Given the description of an element on the screen output the (x, y) to click on. 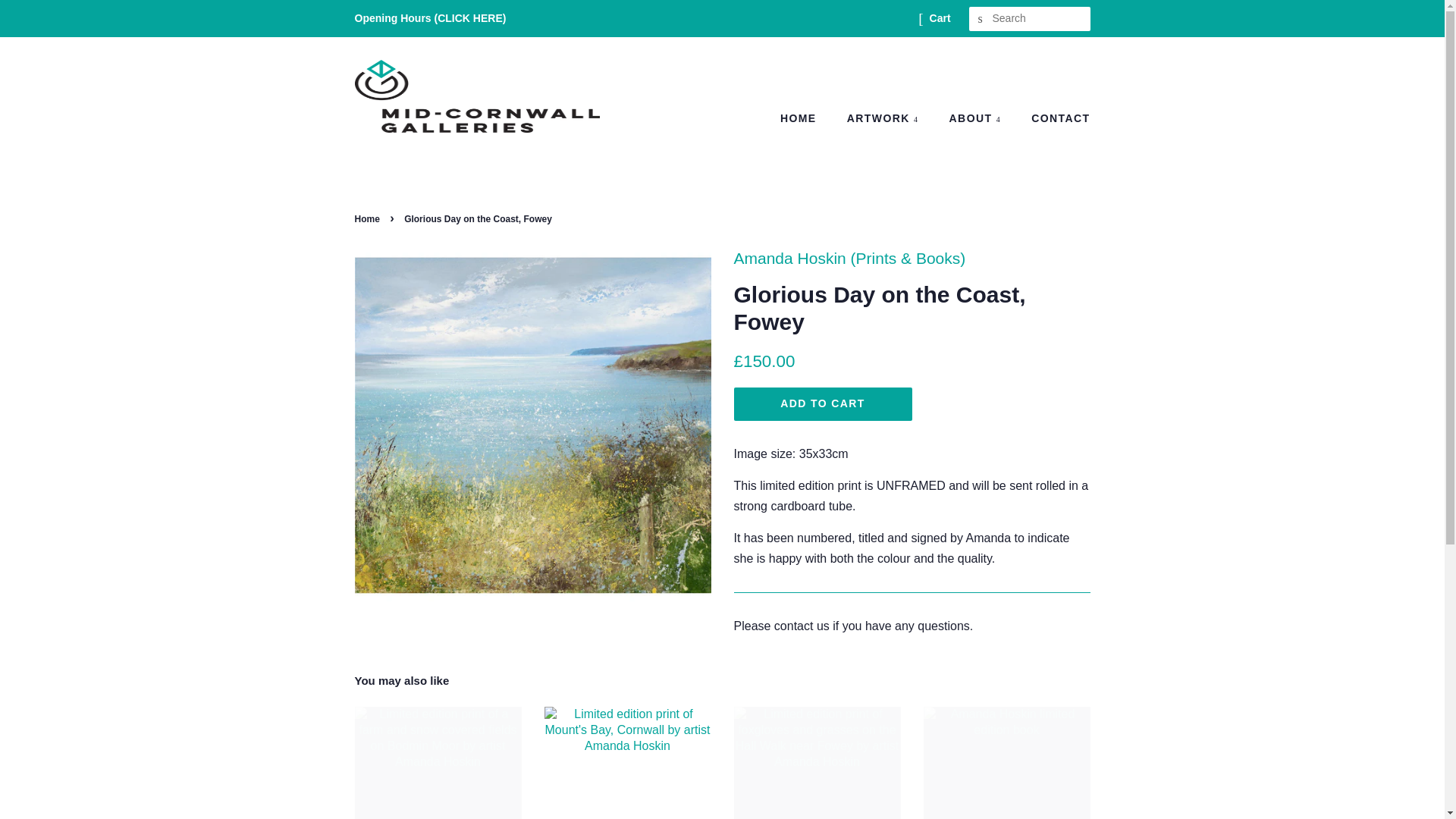
ARTWORK (884, 118)
Back to the frontpage (369, 218)
Cart (940, 18)
SEARCH (980, 18)
HOME (805, 118)
